Given the description of an element on the screen output the (x, y) to click on. 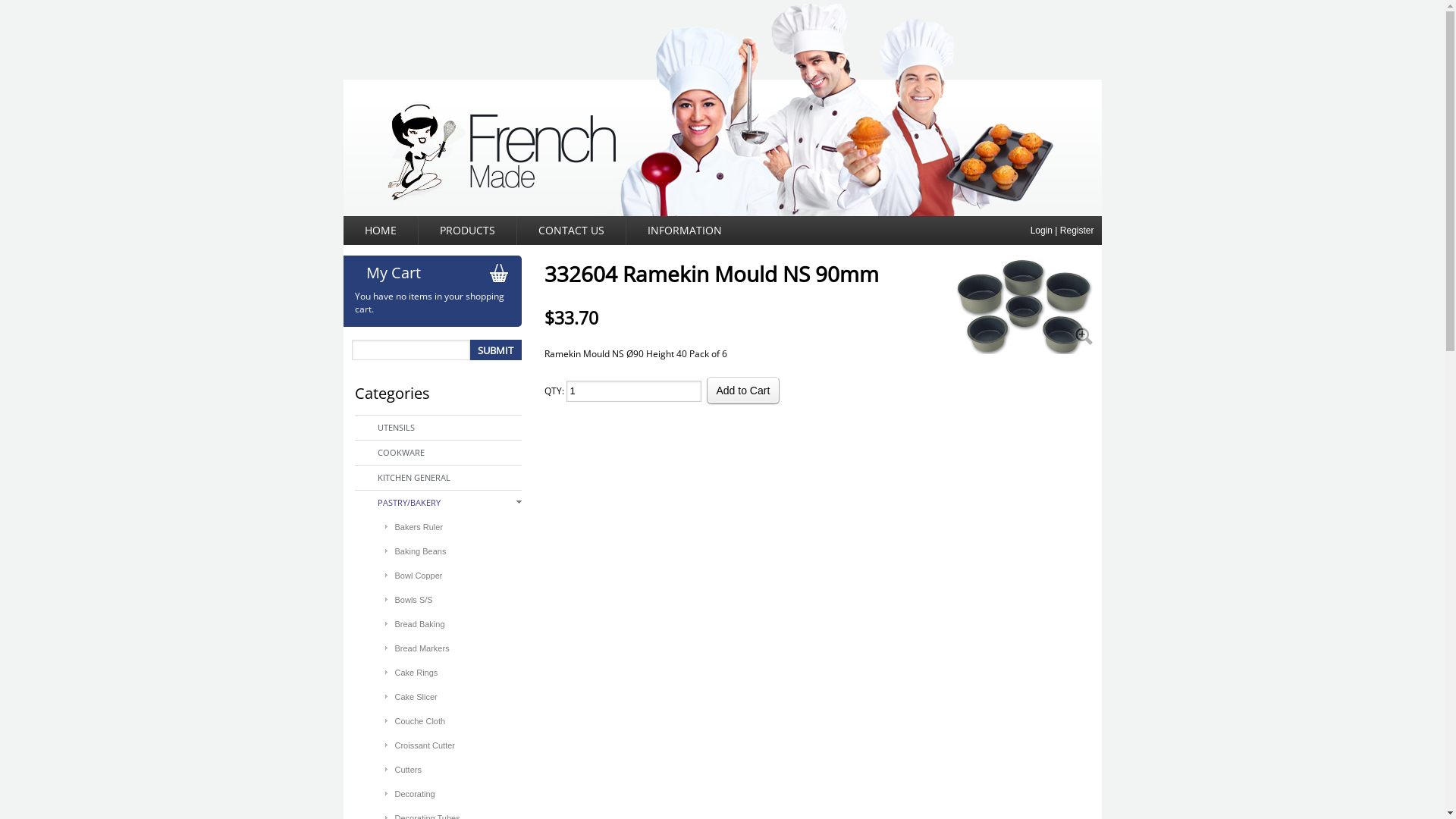
Bread Baking Element type: text (457, 623)
Bakers Ruler Element type: text (457, 526)
CONTACT US Element type: text (571, 230)
Cake Rings Element type: text (457, 672)
submit Element type: text (495, 349)
Bread Markers Element type: text (457, 648)
UTENSILS Element type: text (449, 427)
Cutters Element type: text (457, 769)
Cake Slicer Element type: text (457, 696)
My Cart Element type: text (442, 272)
KITCHEN GENERAL Element type: text (449, 477)
PRODUCTS Element type: text (467, 230)
Baking Beans Element type: text (457, 551)
Login Element type: text (1041, 230)
Croissant Cutter Element type: text (457, 745)
Bowls S/S Element type: text (457, 599)
Decorating Element type: text (457, 793)
COOKWARE Element type: text (449, 452)
Bowl Copper Element type: text (457, 575)
Add to Cart Element type: text (743, 390)
Couche Cloth Element type: text (457, 721)
INFORMATION Element type: text (684, 230)
Register Element type: text (1077, 230)
HOME Element type: text (379, 230)
PASTRY/BAKERY Element type: text (449, 502)
